Given the description of an element on the screen output the (x, y) to click on. 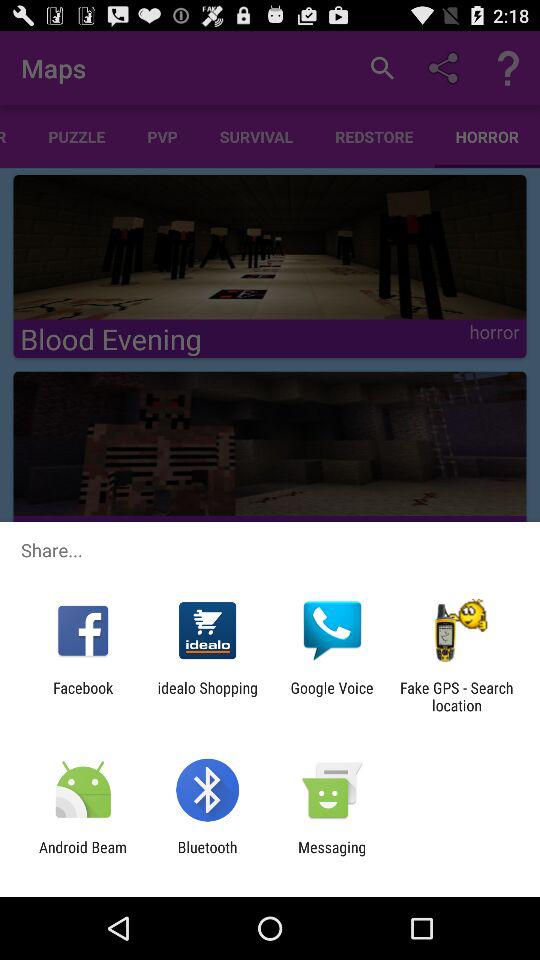
turn on google voice icon (331, 696)
